Given the description of an element on the screen output the (x, y) to click on. 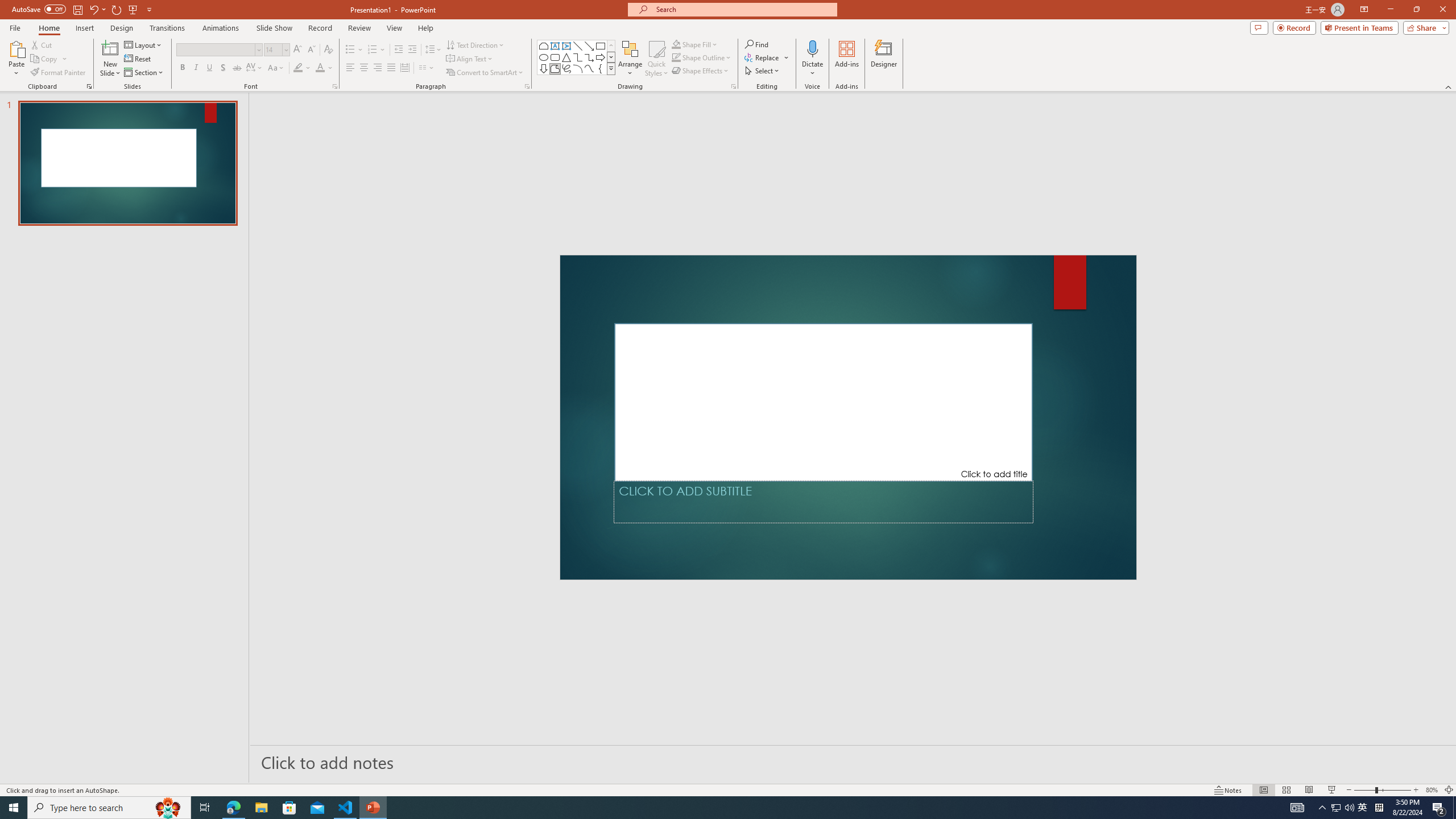
Font... (334, 85)
Shape Fill (694, 44)
Line Spacing (433, 49)
Align Left (349, 67)
Reset (138, 58)
Rectangle: Rounded Corners (554, 57)
Format Painter (58, 72)
Cut (42, 44)
Font Color Red (320, 67)
Character Spacing (254, 67)
